Given the description of an element on the screen output the (x, y) to click on. 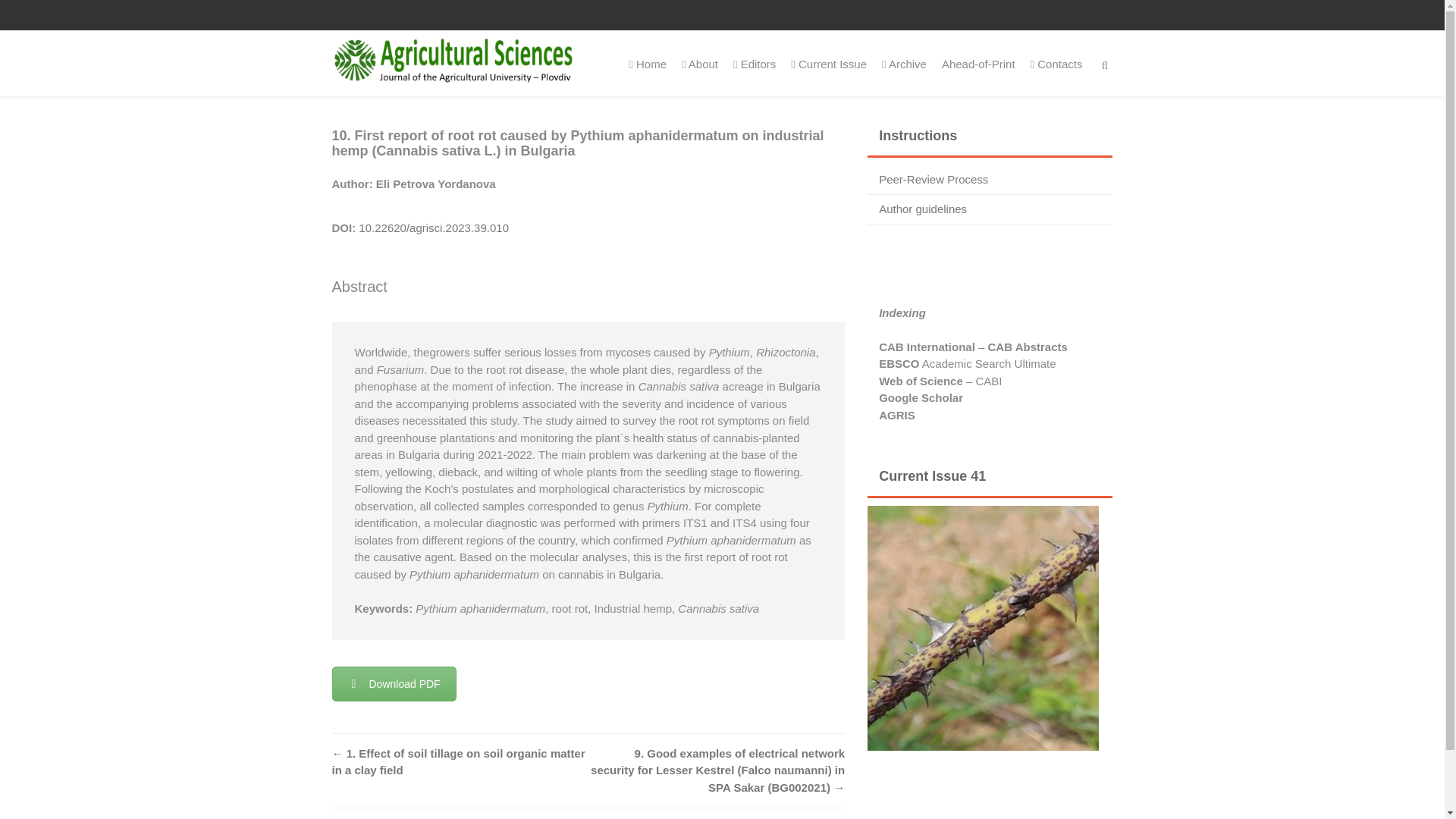
Download PDF (394, 683)
Peer-Review Process (933, 178)
Author guidelines (922, 208)
Ahead-of-Print (978, 64)
Contacts (1056, 64)
Agricultural Sciences (453, 59)
Rhodococcus perrornatus on oil-bearing rose branches (983, 628)
Current Issue (829, 64)
